Given the description of an element on the screen output the (x, y) to click on. 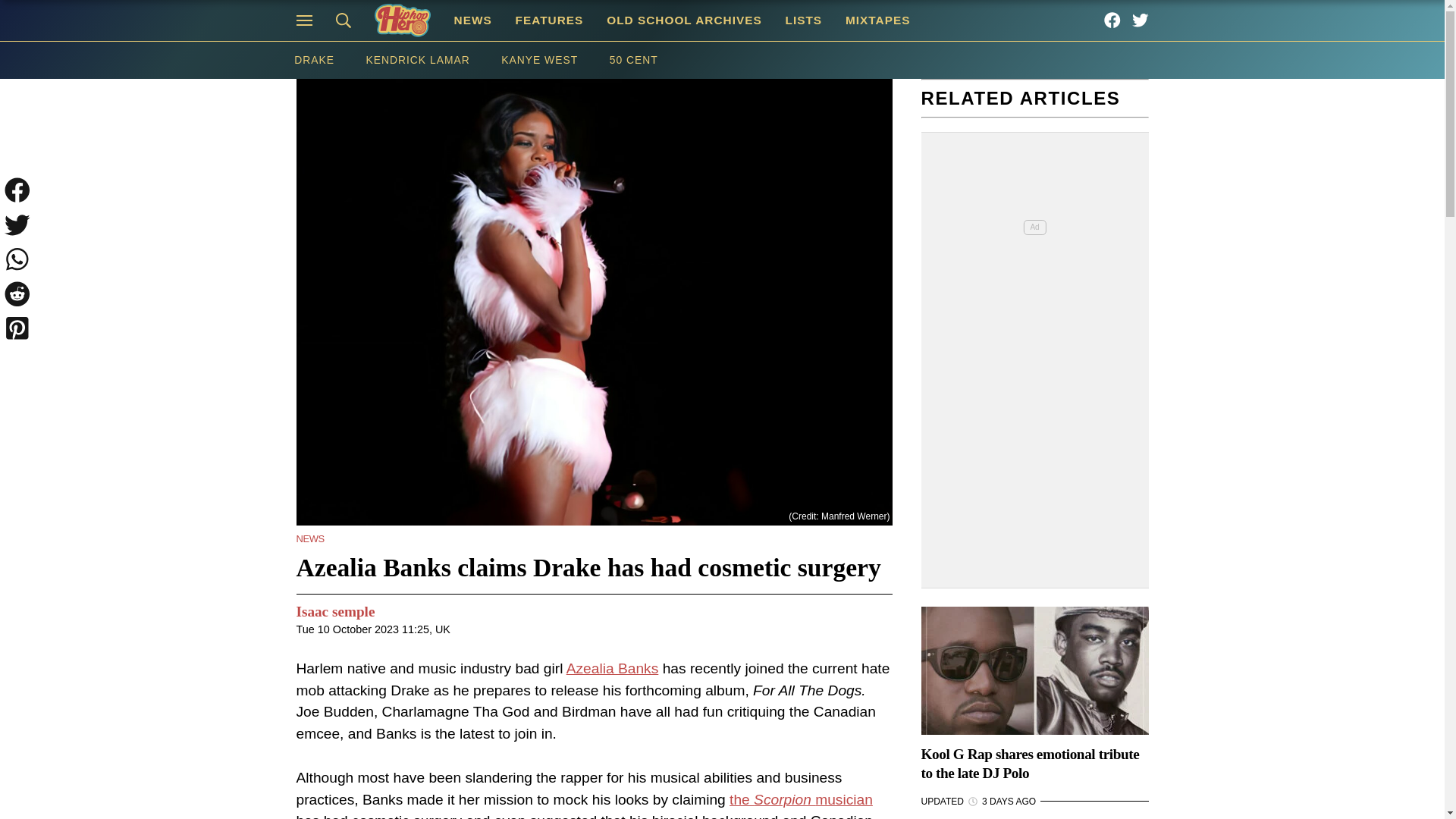
FEATURES (549, 20)
DRAKE (313, 59)
Hip Hop Hero on Twitter (1140, 20)
Isaac semple (334, 612)
NEWS (309, 538)
50 CENT (634, 59)
NEWS (472, 20)
KANYE WEST (538, 59)
Hip Hop Hero on Facebook (1112, 20)
KENDRICK LAMAR (418, 59)
